Given the description of an element on the screen output the (x, y) to click on. 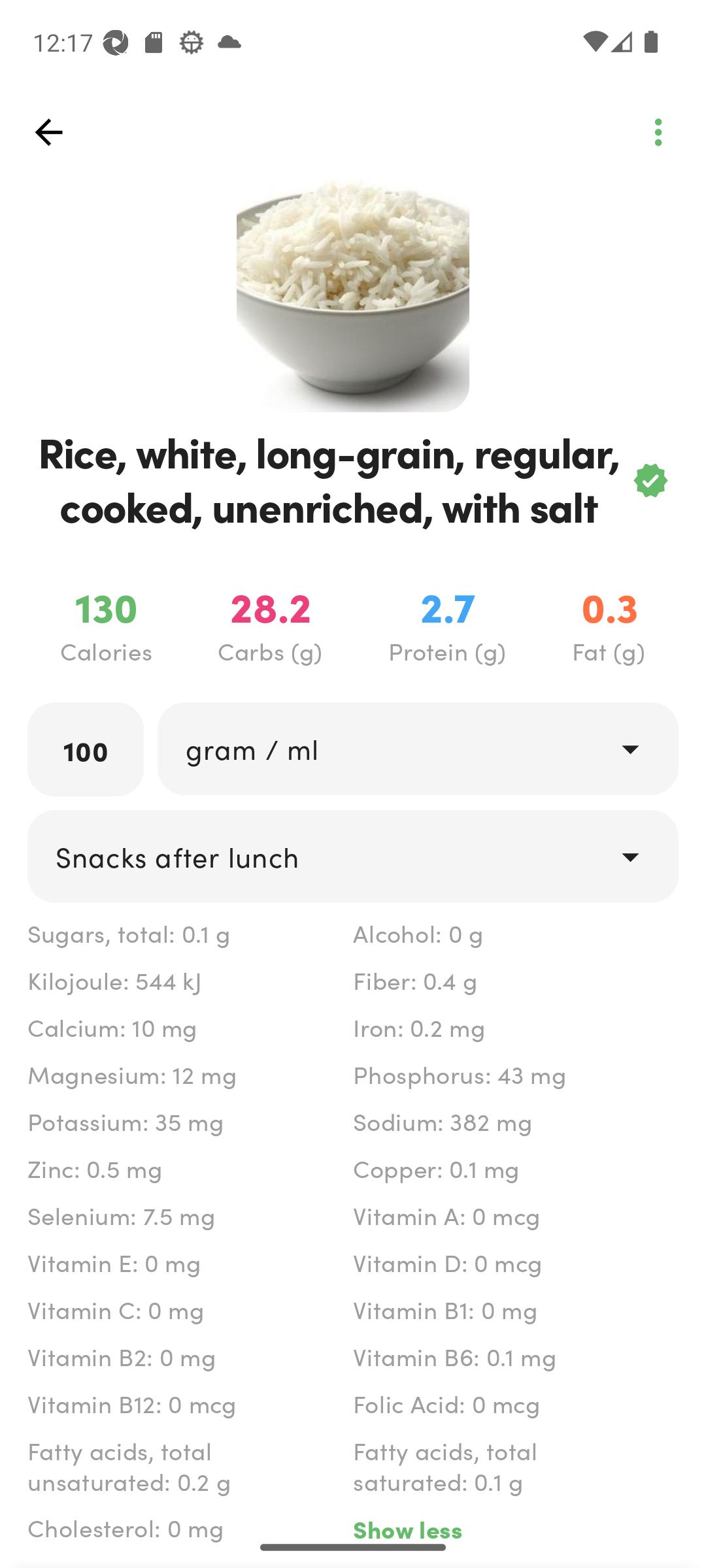
top_left_action (48, 132)
top_left_action (658, 132)
100 labeled_edit_text (85, 749)
drop_down gram / ml (417, 748)
drop_down Snacks after lunch (352, 856)
Show less (515, 1528)
